Given the description of an element on the screen output the (x, y) to click on. 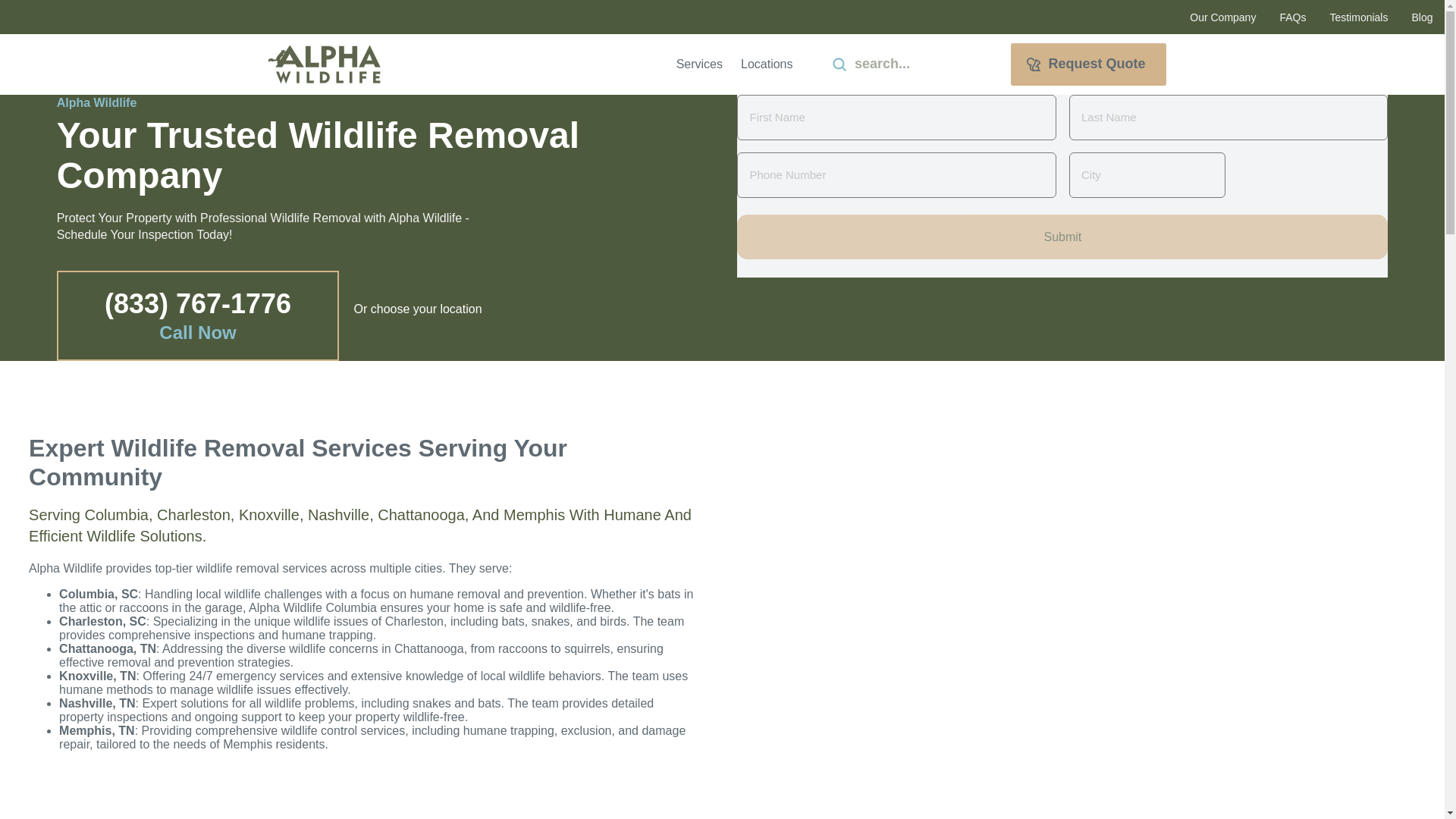
Testimonials (1358, 17)
Submit (1061, 236)
Request Quote (1088, 64)
Our Company (1222, 17)
Submit (838, 64)
FAQs (1292, 17)
Submit (1061, 236)
